Given the description of an element on the screen output the (x, y) to click on. 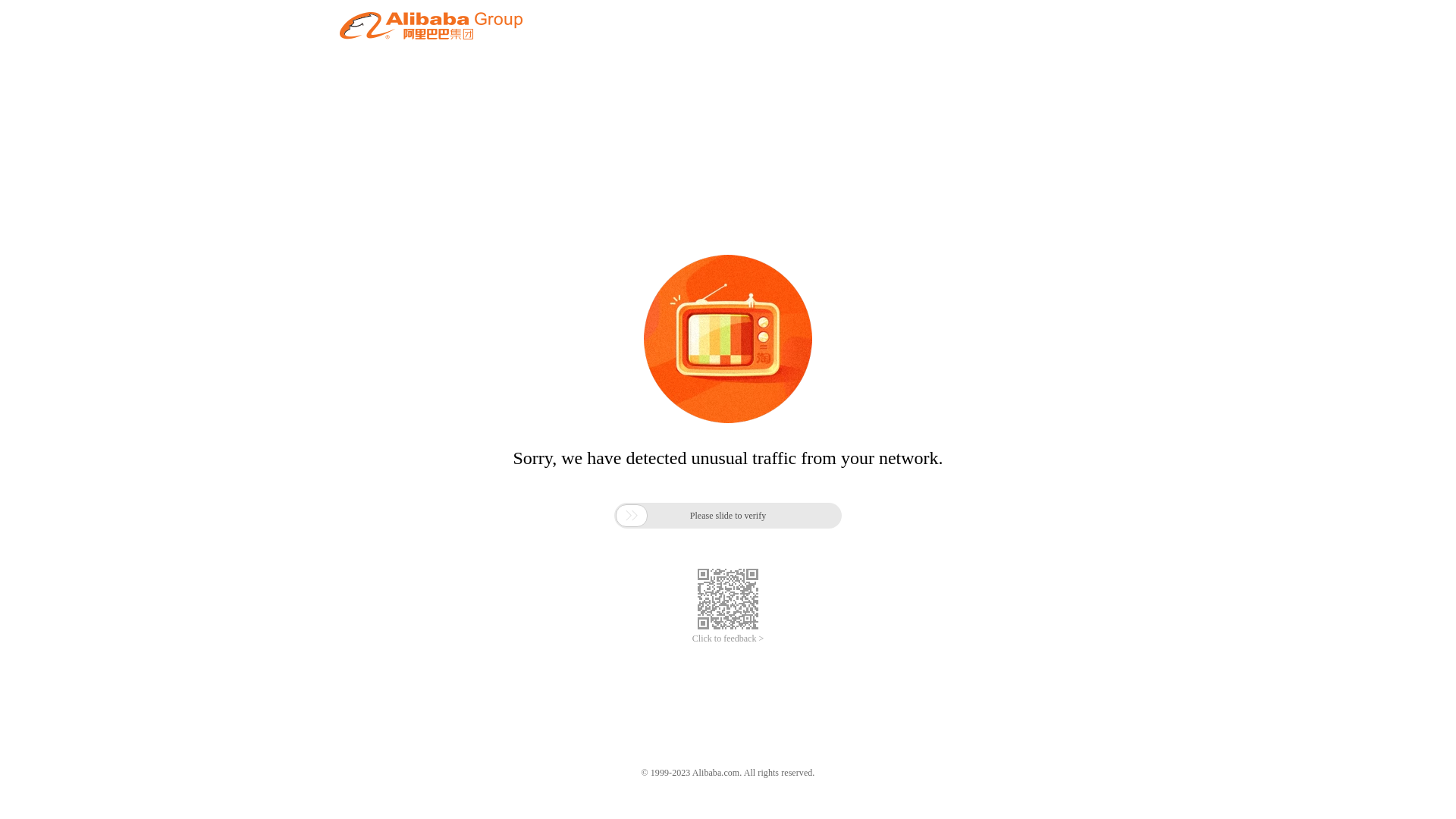
Click to feedback > Element type: text (727, 638)
